Given the description of an element on the screen output the (x, y) to click on. 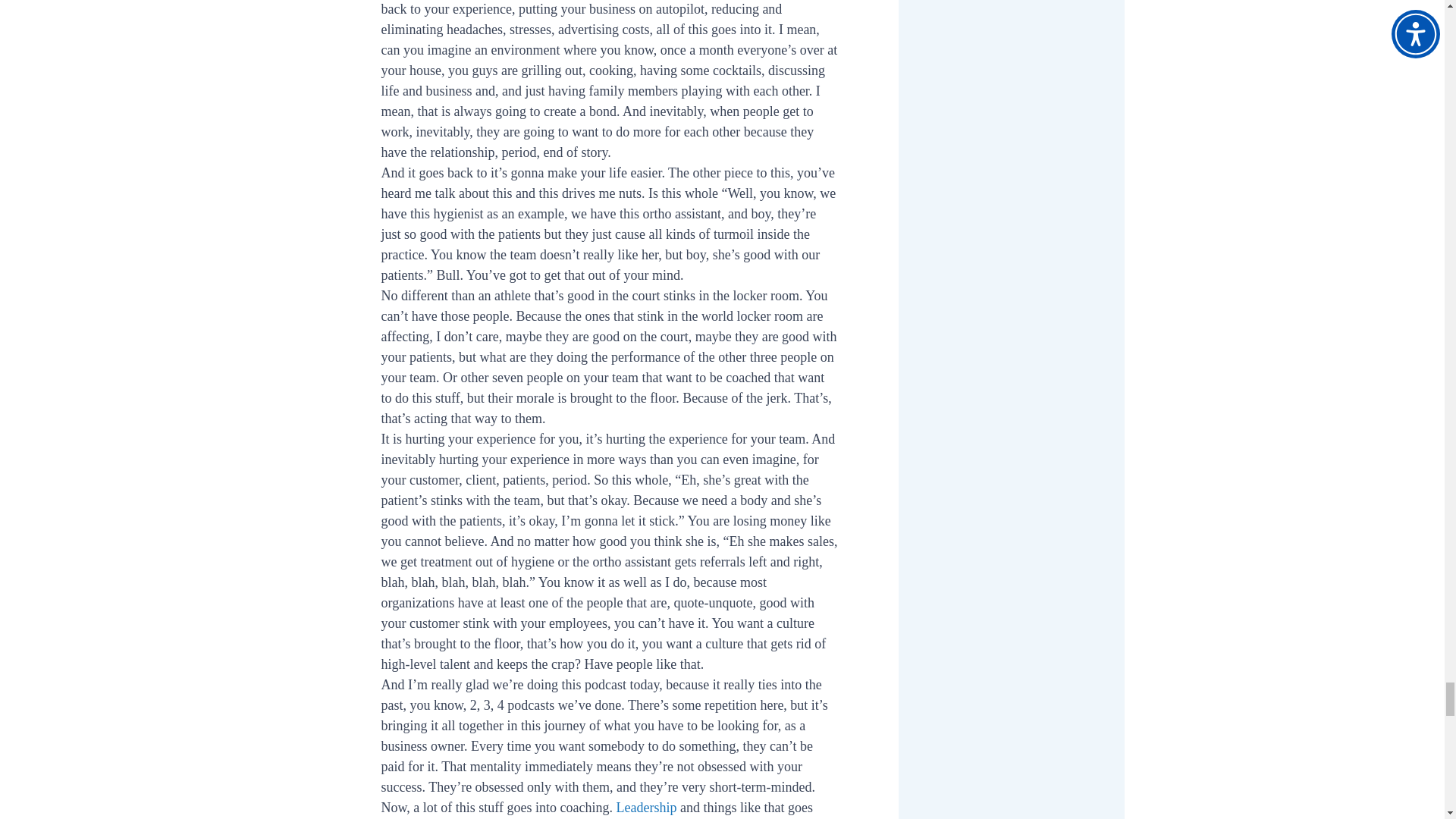
Leadership (646, 807)
